Given the description of an element on the screen output the (x, y) to click on. 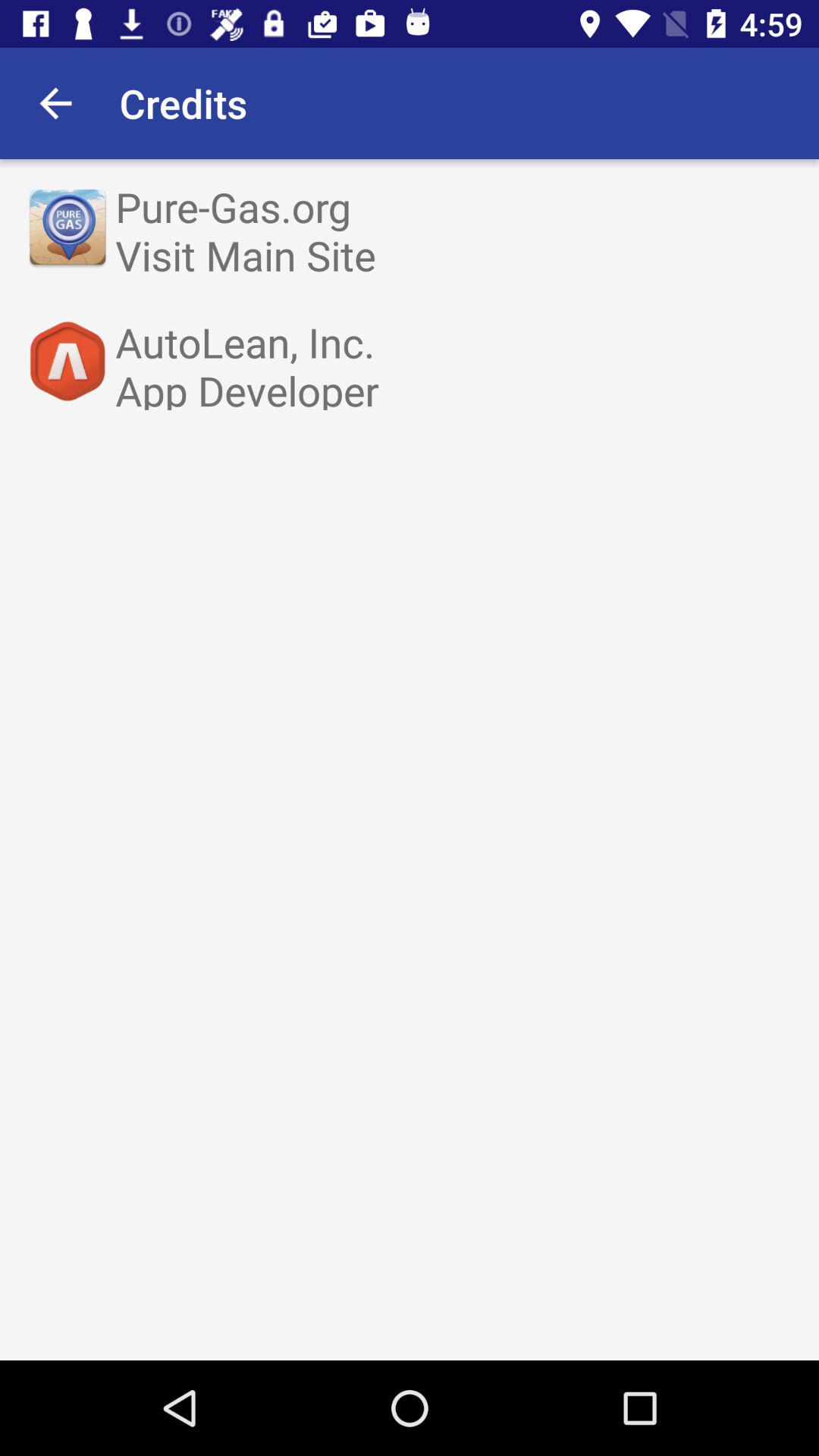
click the app next to the credits icon (55, 103)
